Given the description of an element on the screen output the (x, y) to click on. 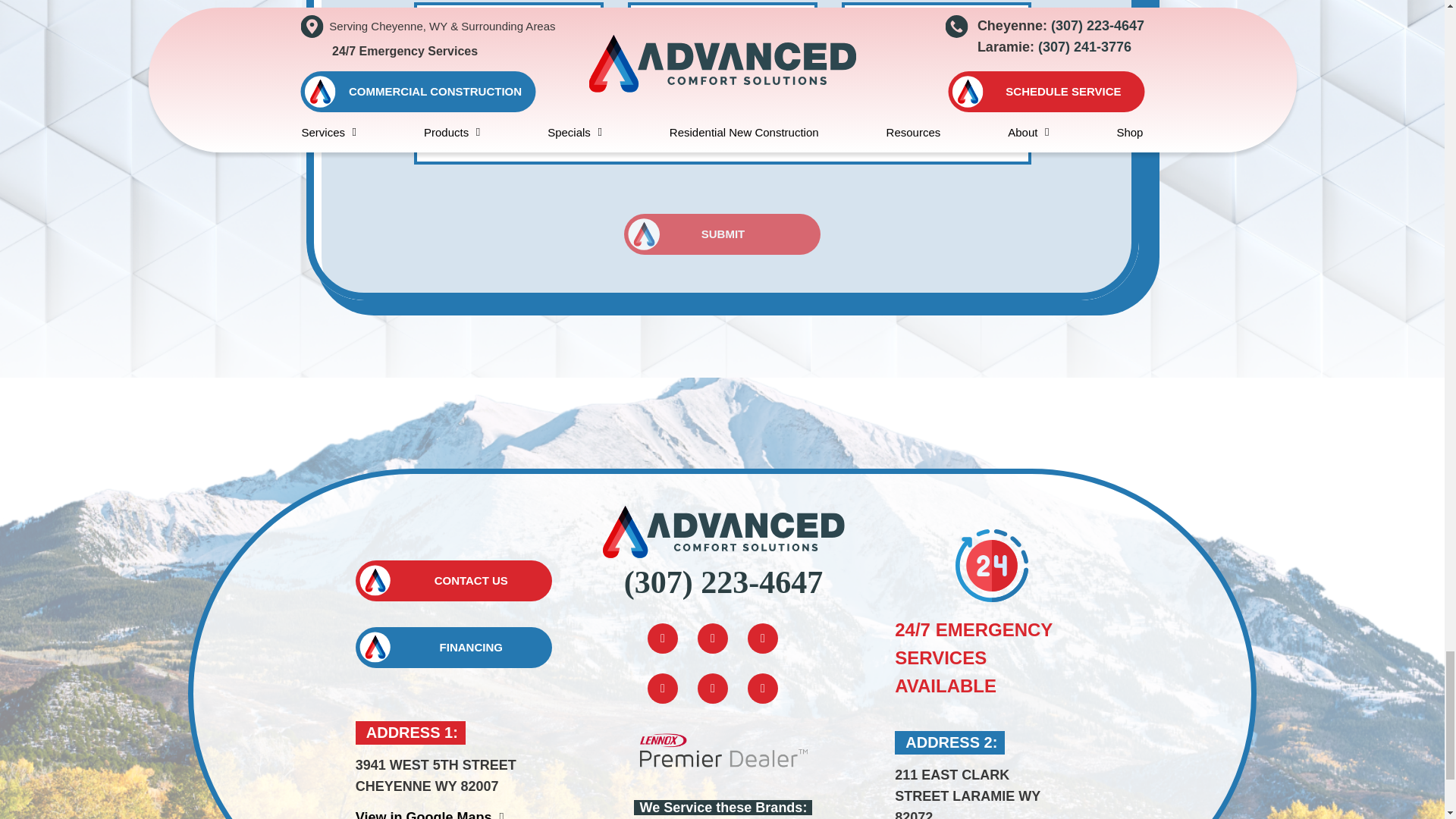
Advanced Comfort Solutions (723, 531)
